Given the description of an element on the screen output the (x, y) to click on. 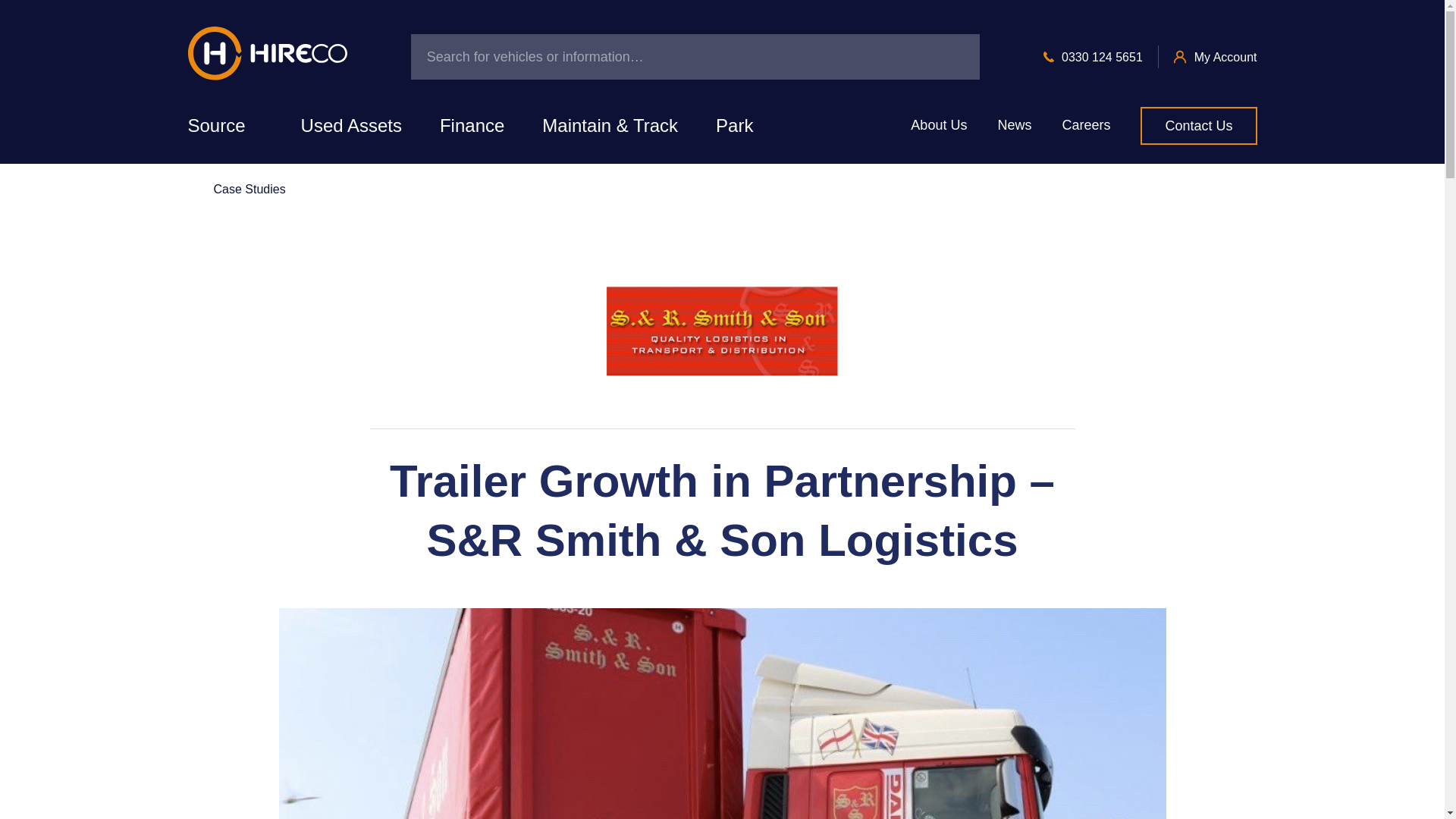
Search (951, 56)
Used Assets (351, 125)
Contact Us (1198, 125)
Finance (471, 125)
Park (734, 125)
My Account (1225, 56)
Careers (1085, 125)
Case Studies (236, 189)
Go to homepage (267, 56)
Source (224, 125)
